Given the description of an element on the screen output the (x, y) to click on. 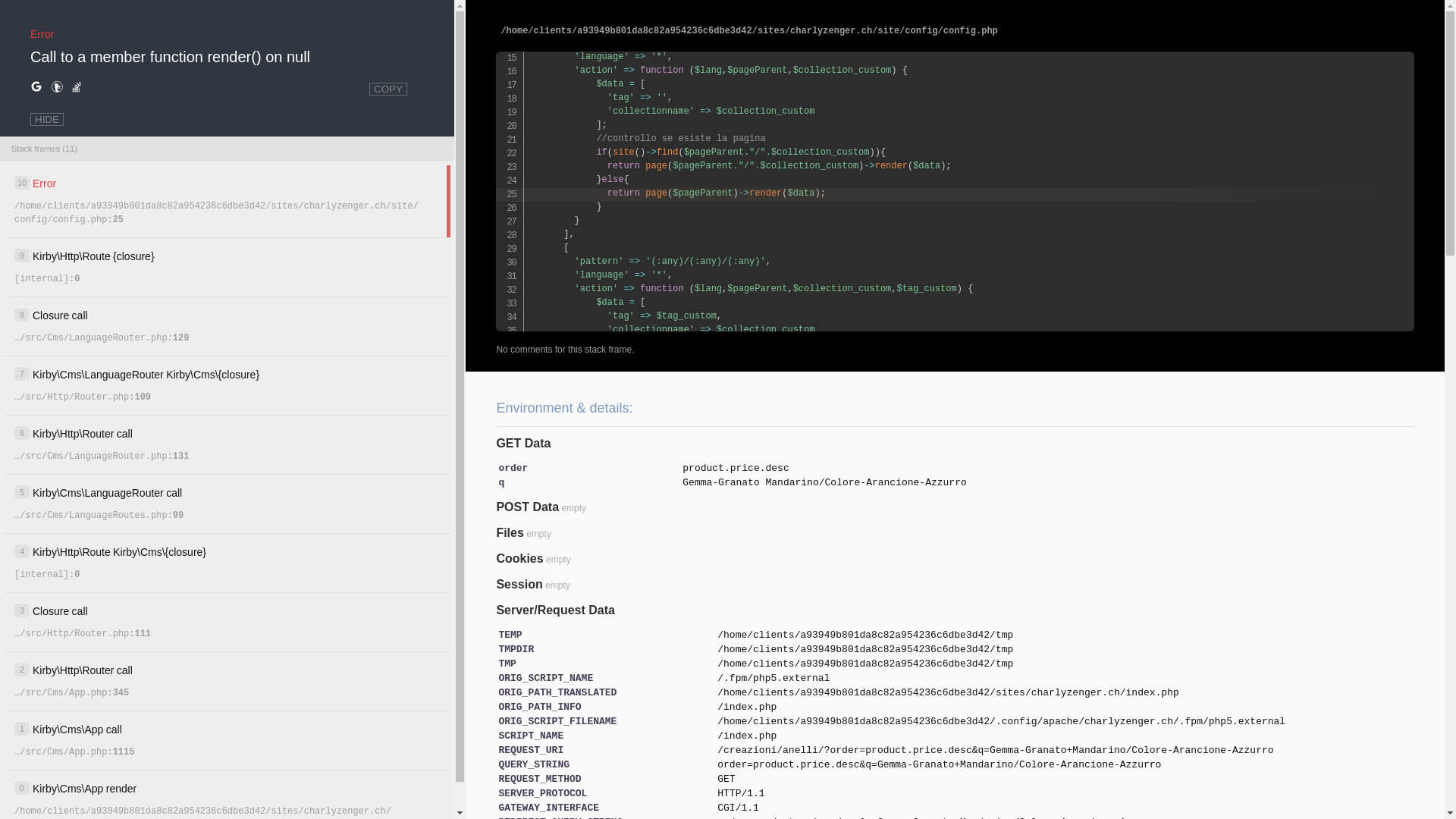
Search for help on Stack Overflow. Element type: hover (76, 86)
Search for help on DuckDuckGo. Element type: hover (56, 86)
COPY Element type: text (388, 88)
Search for help on Google. Element type: hover (36, 86)
HIDE Element type: text (46, 118)
